Given the description of an element on the screen output the (x, y) to click on. 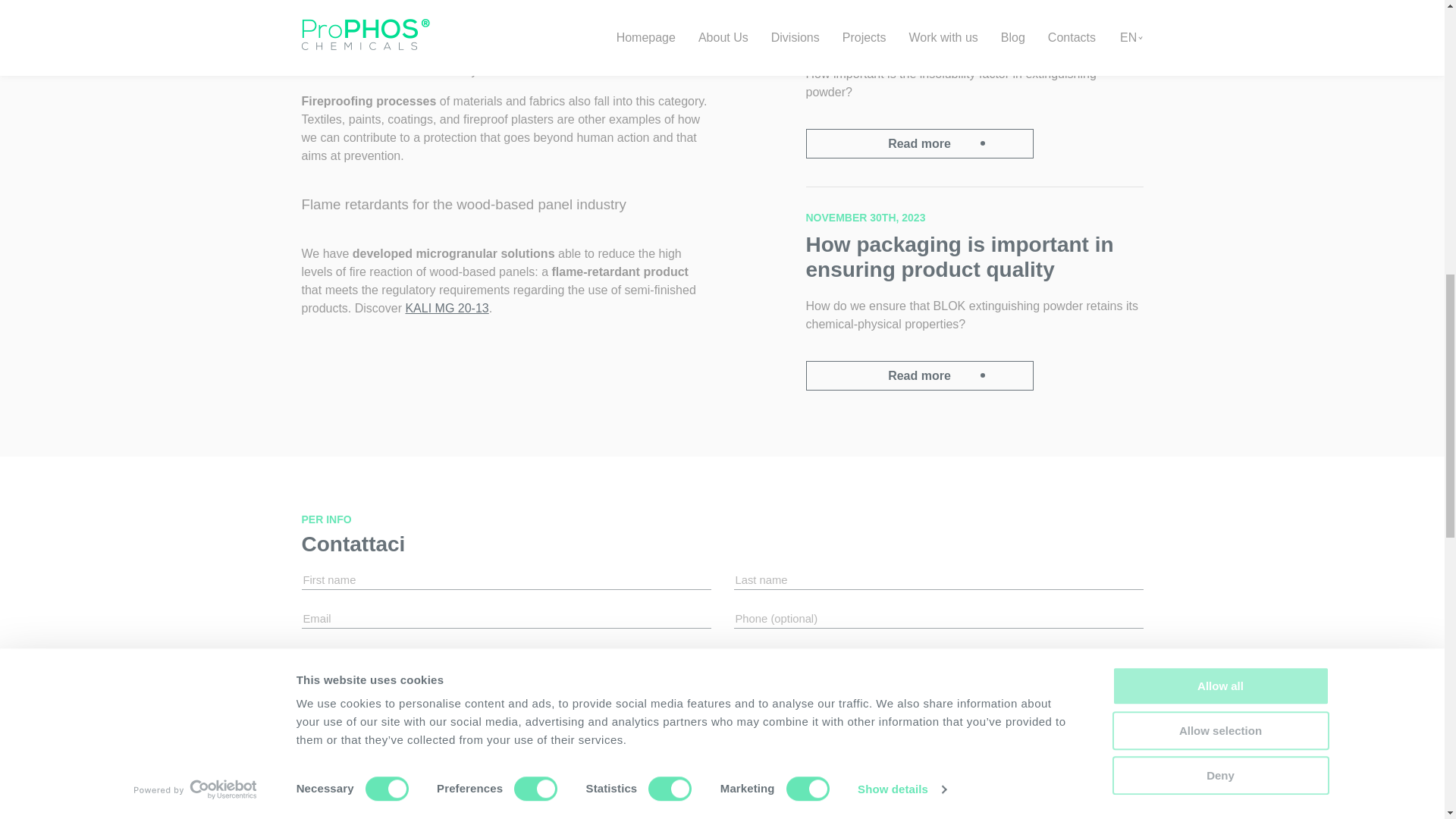
Send (973, 763)
1 (318, 786)
1 (318, 756)
